Given the description of an element on the screen output the (x, y) to click on. 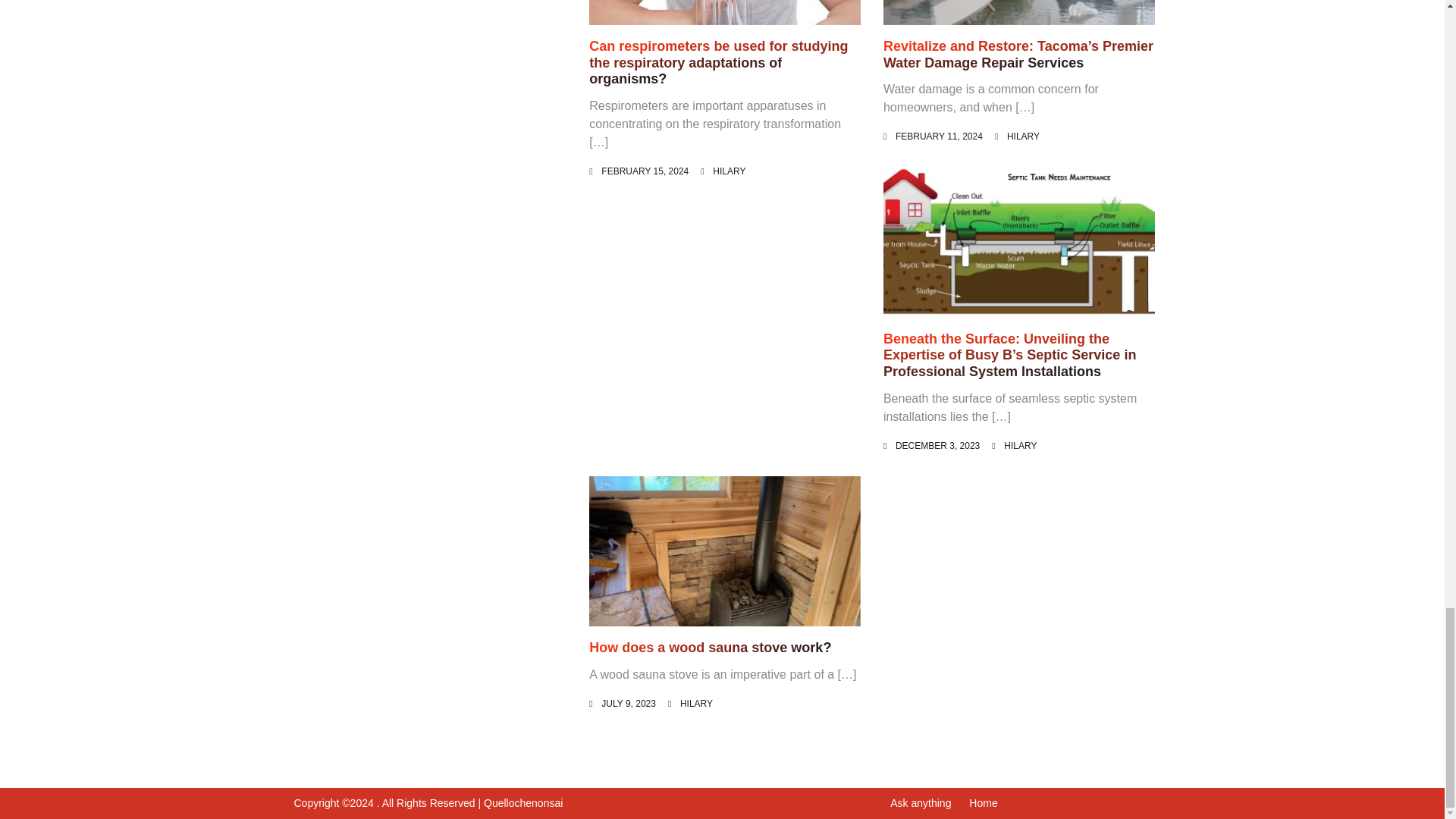
JULY 9, 2023 (628, 703)
HILARY (1020, 445)
HILARY (1023, 136)
FEBRUARY 15, 2024 (644, 171)
HILARY (696, 703)
HILARY (729, 171)
DECEMBER 3, 2023 (937, 445)
How does a wood sauna stove work? (710, 647)
FEBRUARY 11, 2024 (938, 136)
